Given the description of an element on the screen output the (x, y) to click on. 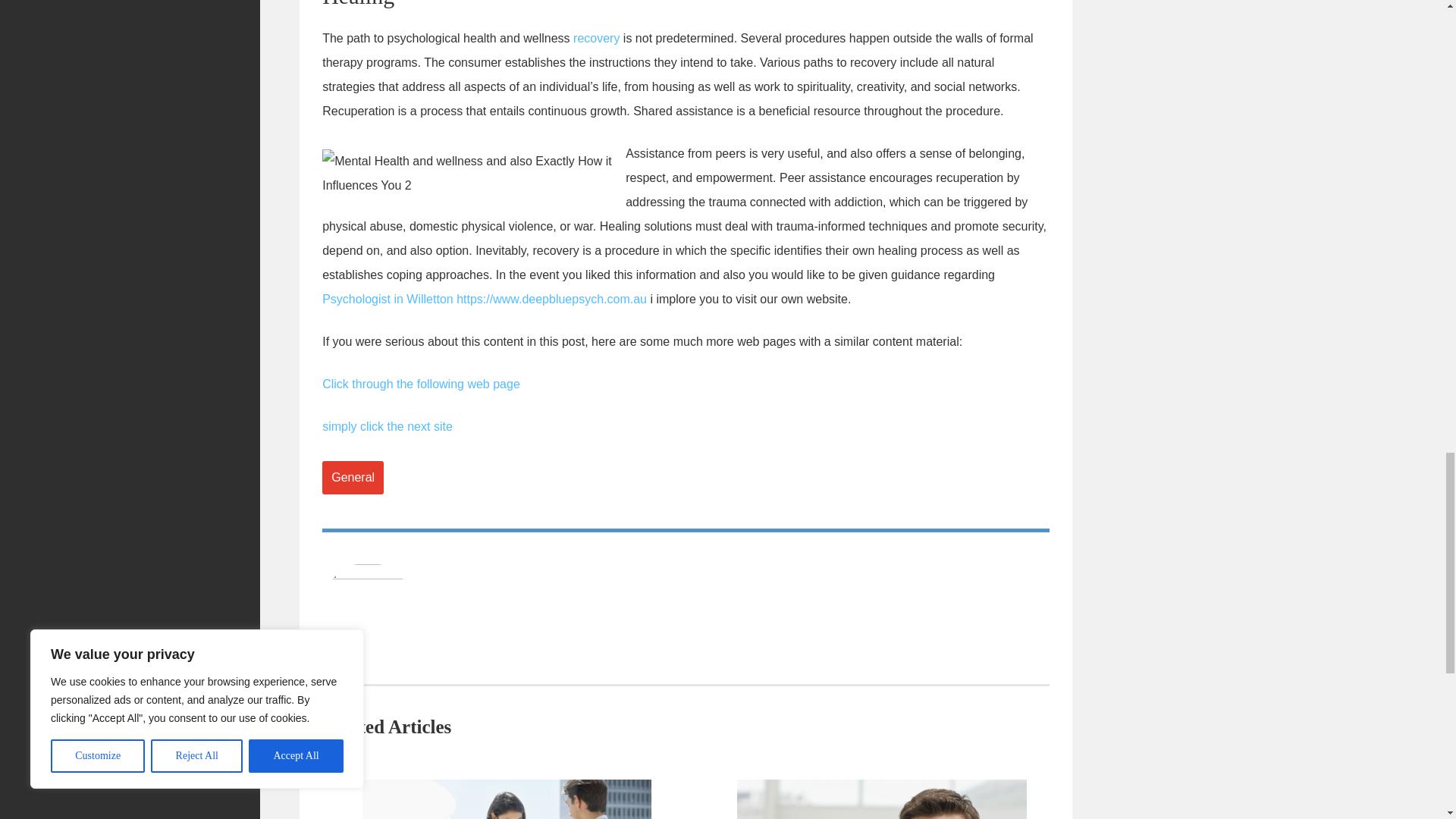
Click through the following web page (420, 383)
General (352, 477)
recovery (596, 38)
simply click the next site (386, 426)
